Given the description of an element on the screen output the (x, y) to click on. 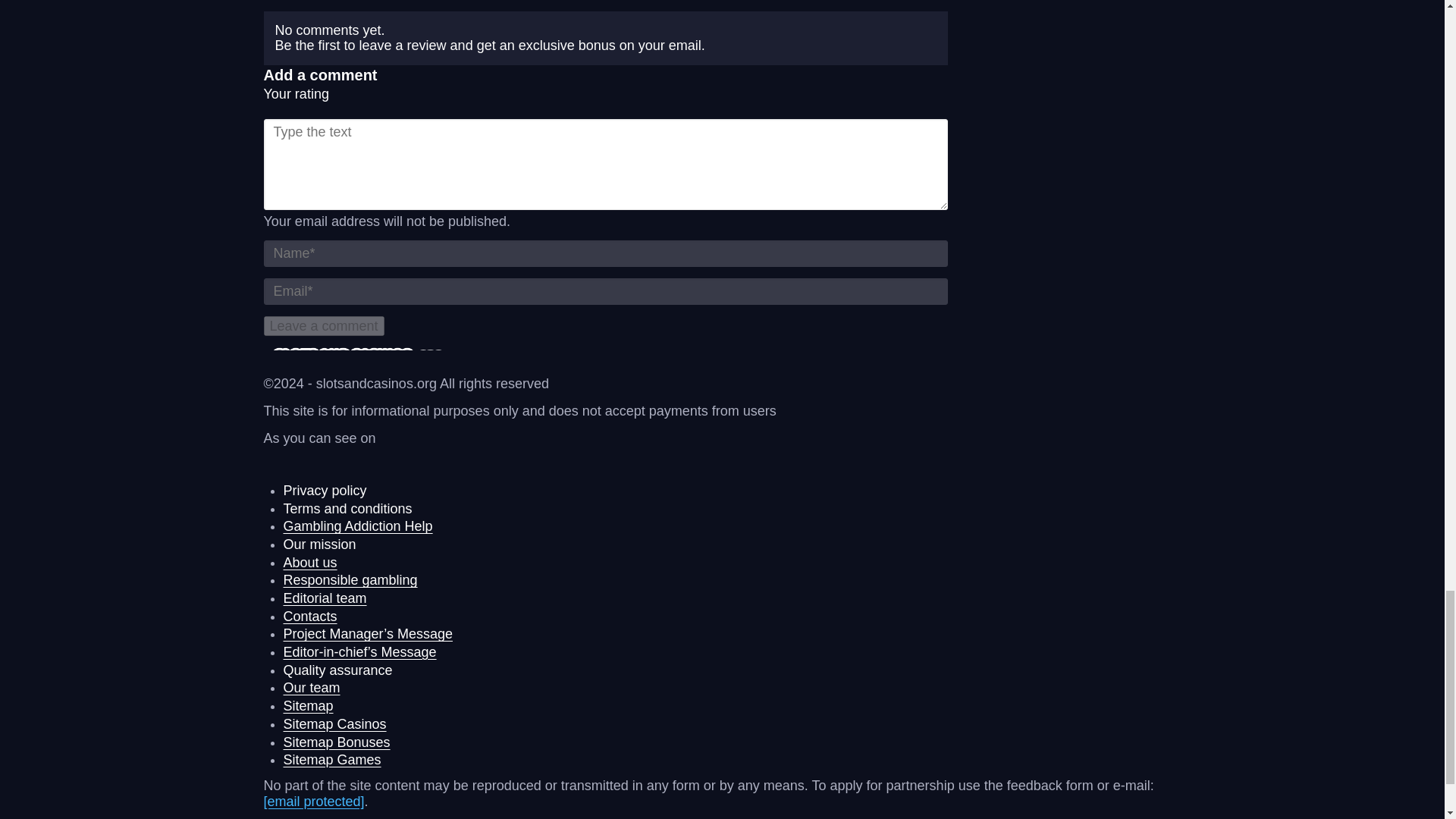
Leave a comment (323, 326)
